Given the description of an element on the screen output the (x, y) to click on. 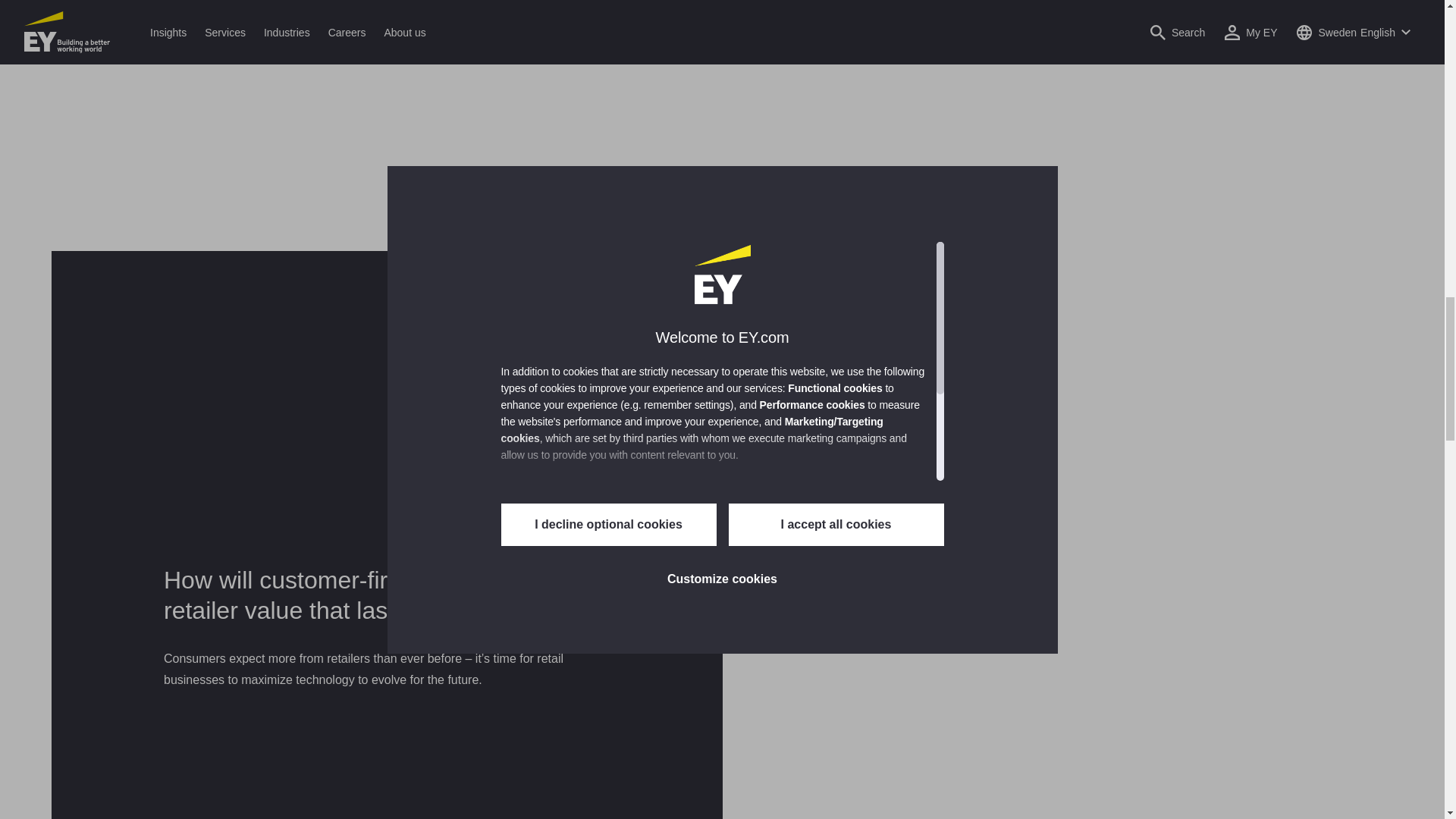
Play Video (1056, 633)
